Given the description of an element on the screen output the (x, y) to click on. 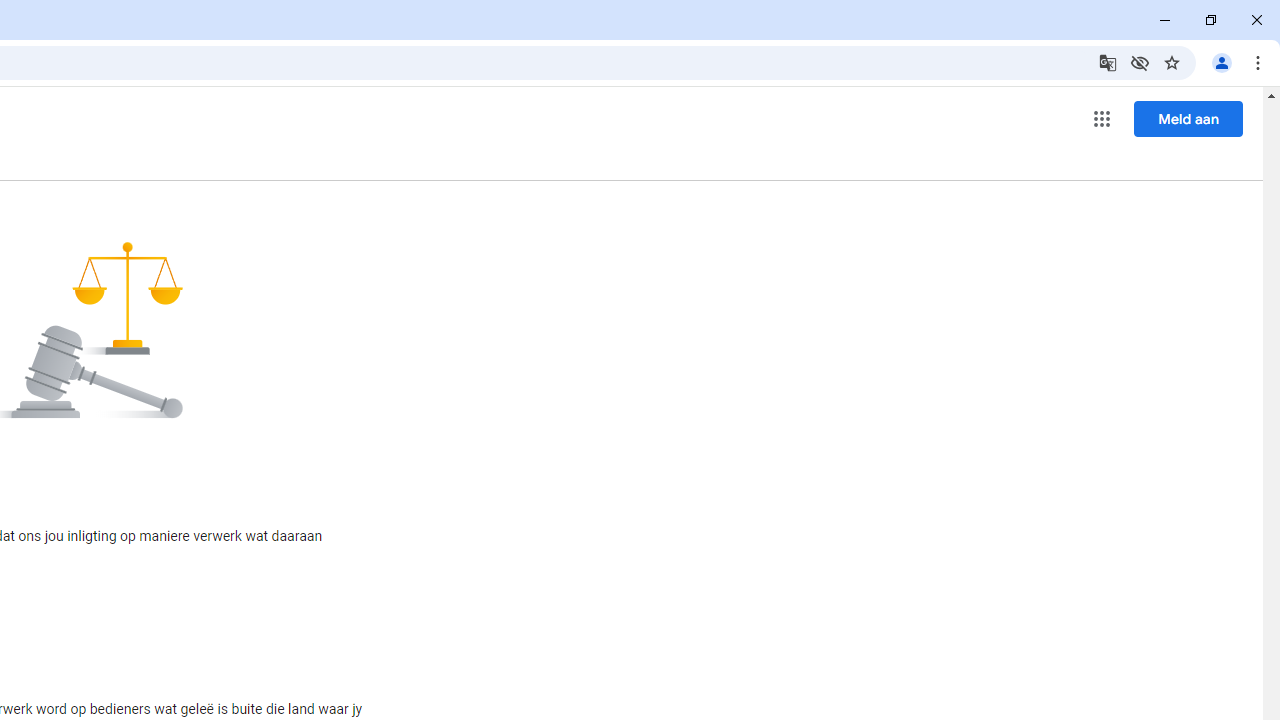
Google-programme (1101, 118)
Translate this page (1107, 62)
Meld aan (1188, 118)
